Given the description of an element on the screen output the (x, y) to click on. 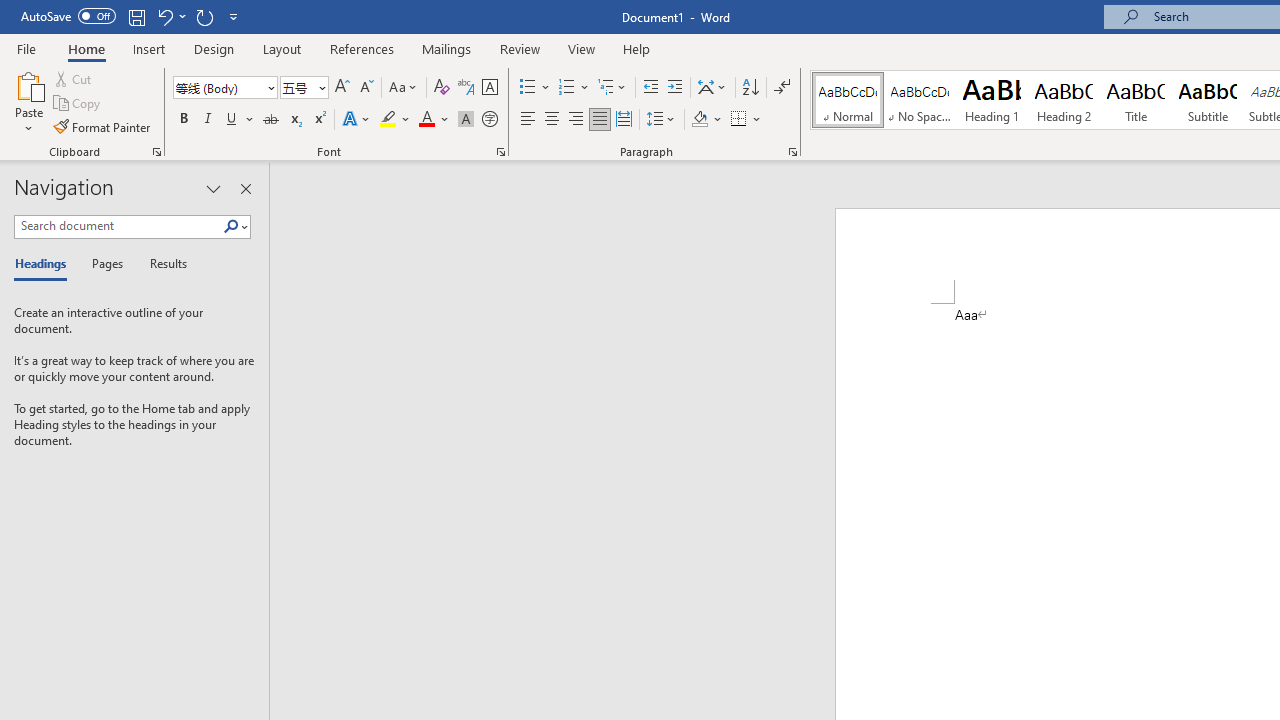
Font Color Red (426, 119)
